Given the description of an element on the screen output the (x, y) to click on. 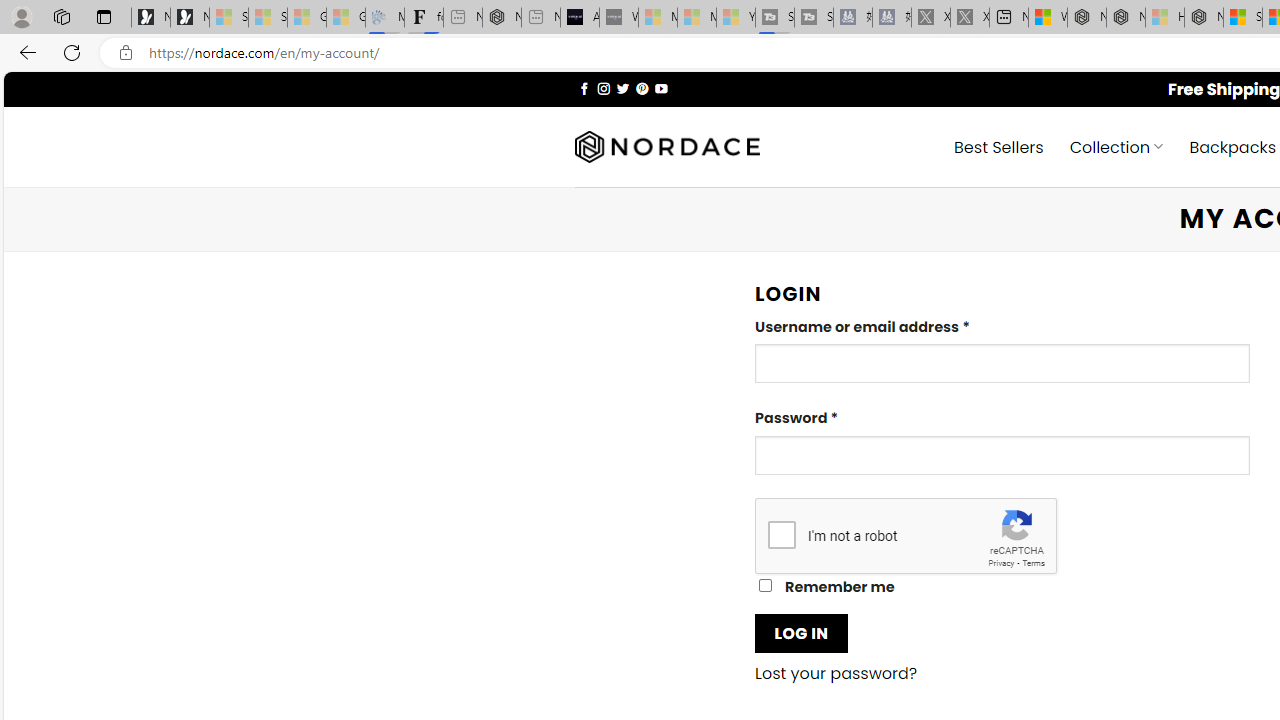
I'm not a robot (782, 533)
What's the best AI voice generator? - voice.ai - Sleeping (618, 17)
LOG IN (801, 632)
Newsletter Sign Up (189, 17)
Privacy (1001, 562)
